Given the description of an element on the screen output the (x, y) to click on. 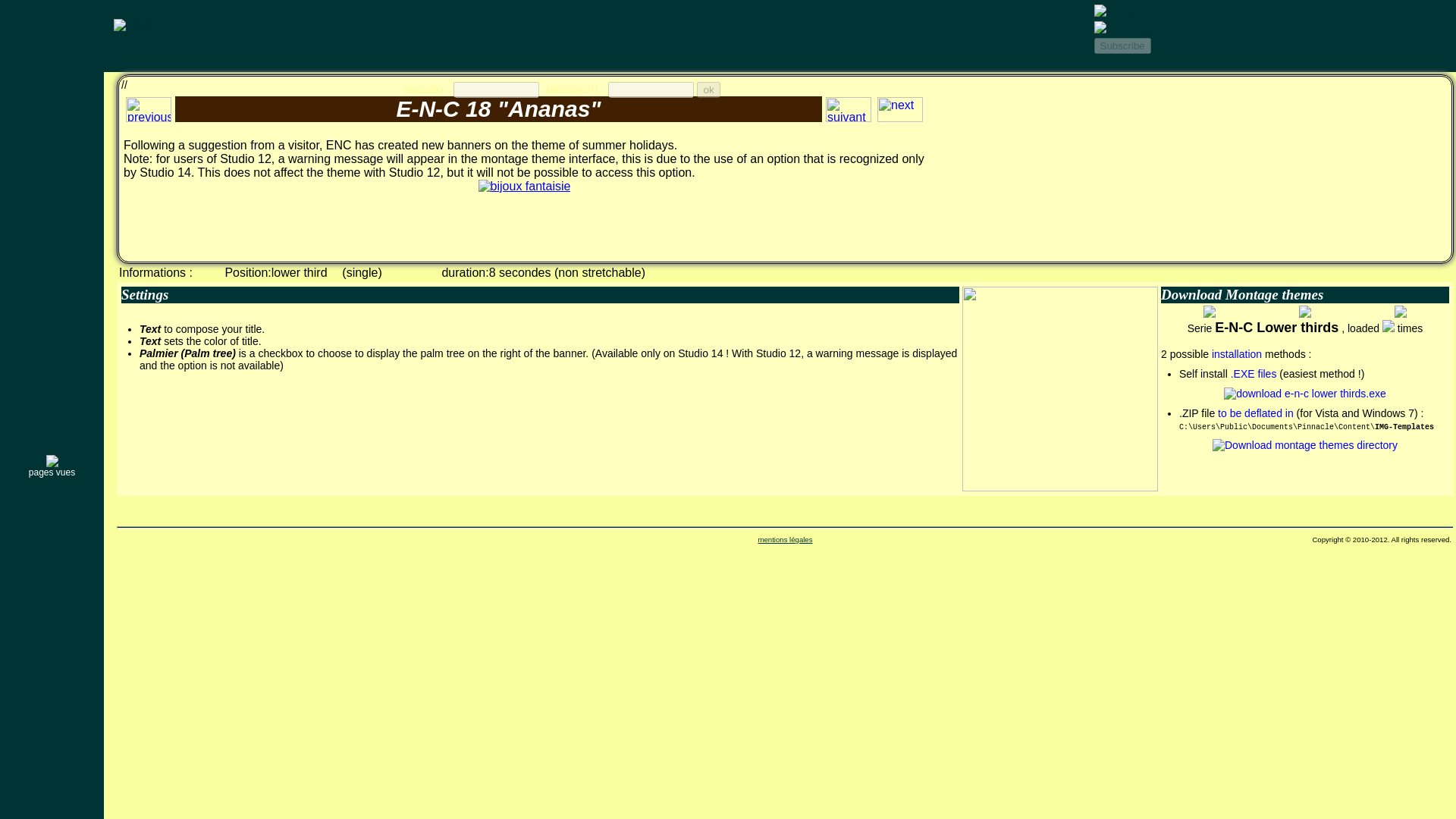
Francais (1122, 28)
English (1118, 11)
ok (708, 89)
Donate (134, 24)
ok (708, 89)
Subscribe (1121, 45)
Subscribe (1121, 45)
